Given the description of an element on the screen output the (x, y) to click on. 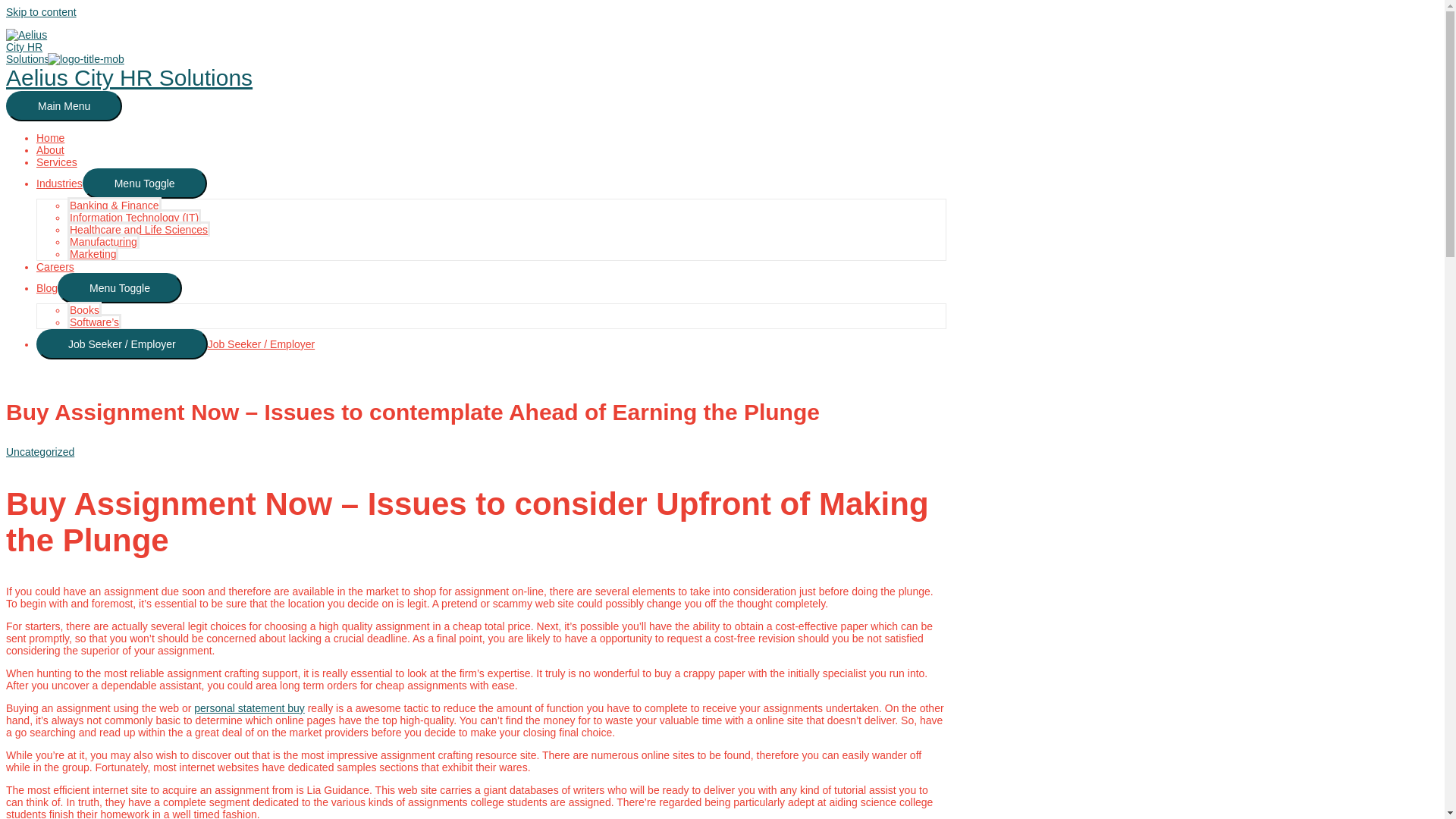
Industries (59, 183)
Main Menu (63, 105)
Aelius City HR Solutions (128, 77)
Services (56, 162)
Blog (47, 287)
Marketing (91, 253)
Skip to content (41, 11)
Uncategorized (39, 451)
Healthcare and Life Sciences (137, 228)
Menu Toggle (144, 183)
Home (50, 137)
Careers (55, 266)
Books (83, 309)
personal statement buy (248, 707)
Manufacturing (102, 240)
